Given the description of an element on the screen output the (x, y) to click on. 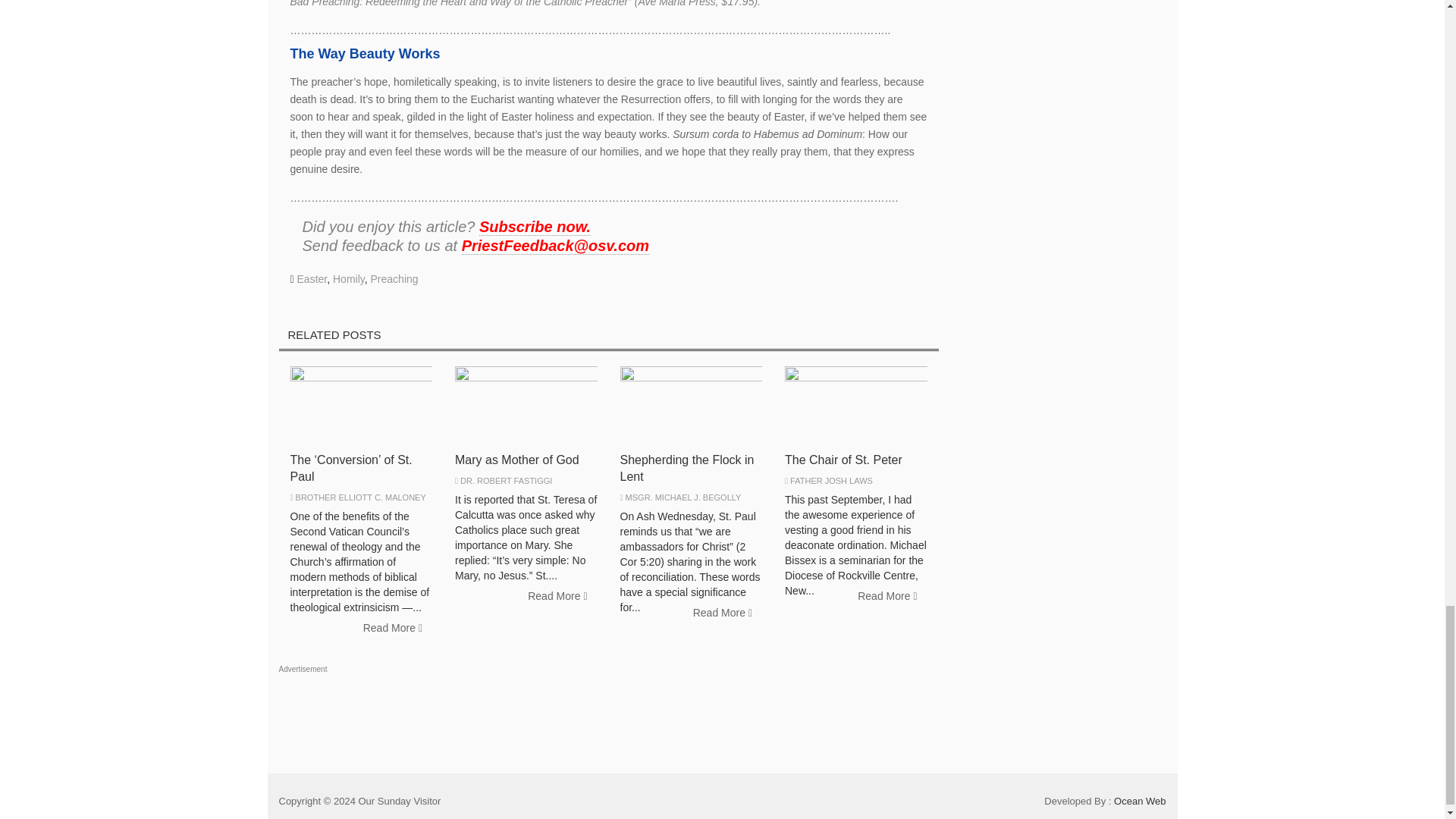
Subscribe now. (535, 226)
Homily (349, 278)
Read More (721, 613)
Preaching (395, 278)
The Chair of St. Peter (843, 459)
Mary as Mother of God (516, 459)
Read More (886, 596)
FATHER JOSH LAWS (831, 480)
Shepherding the Flock in Lent (687, 468)
Easter (312, 278)
MSGR. MICHAEL J. BEGOLLY (683, 497)
Read More (557, 596)
BROTHER ELLIOTT C. MALONEY (360, 497)
Read More (392, 628)
DR. ROBERT FASTIGGI (505, 480)
